Given the description of an element on the screen output the (x, y) to click on. 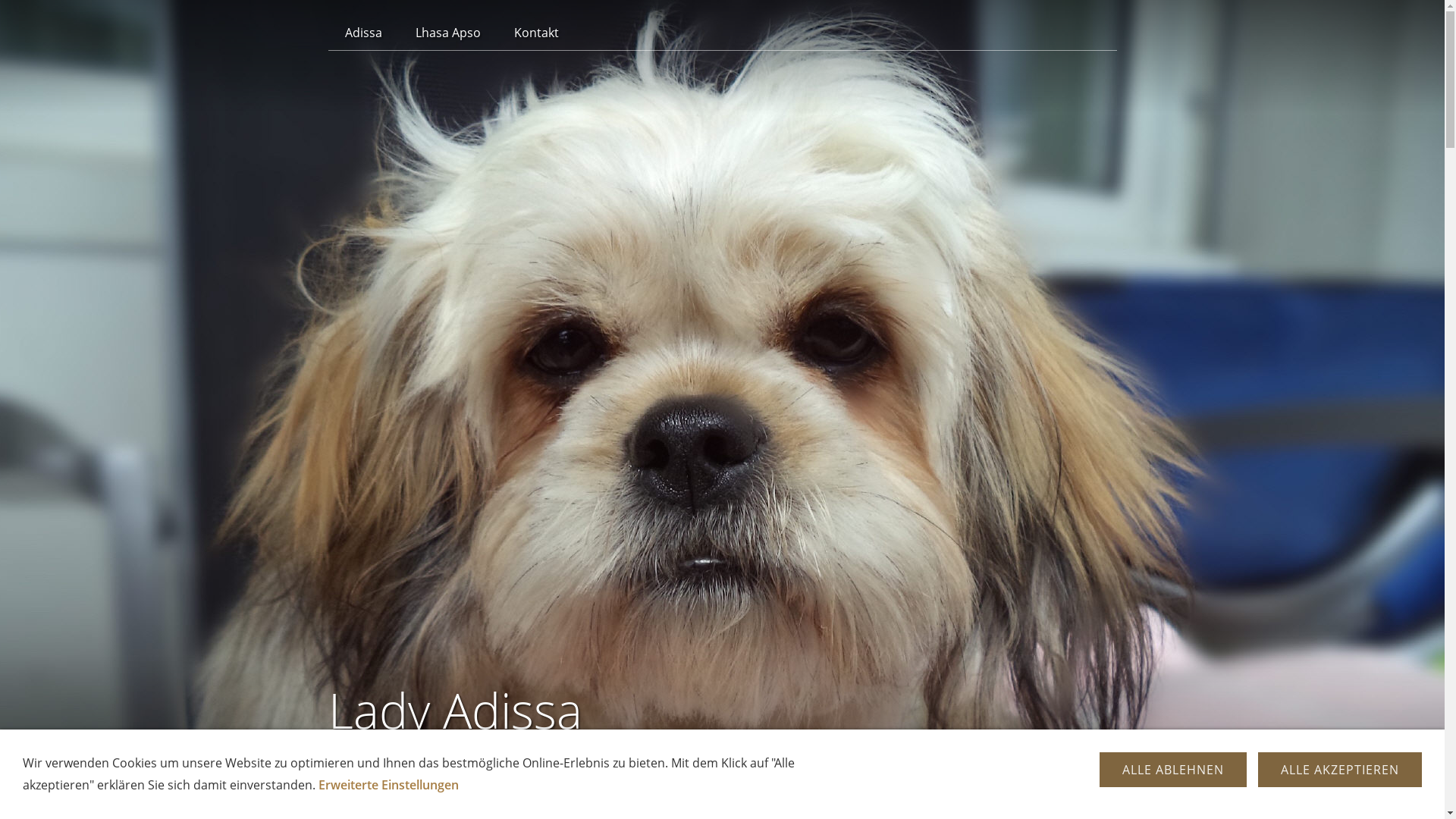
Kontakt Element type: text (536, 32)
Adissa Element type: text (362, 32)
Erweiterte Einstellungen Element type: text (388, 784)
Lhasa Apso Element type: text (447, 32)
ALLE AKZEPTIEREN Element type: text (1339, 769)
ALLE ABLEHNEN Element type: text (1172, 769)
